Given the description of an element on the screen output the (x, y) to click on. 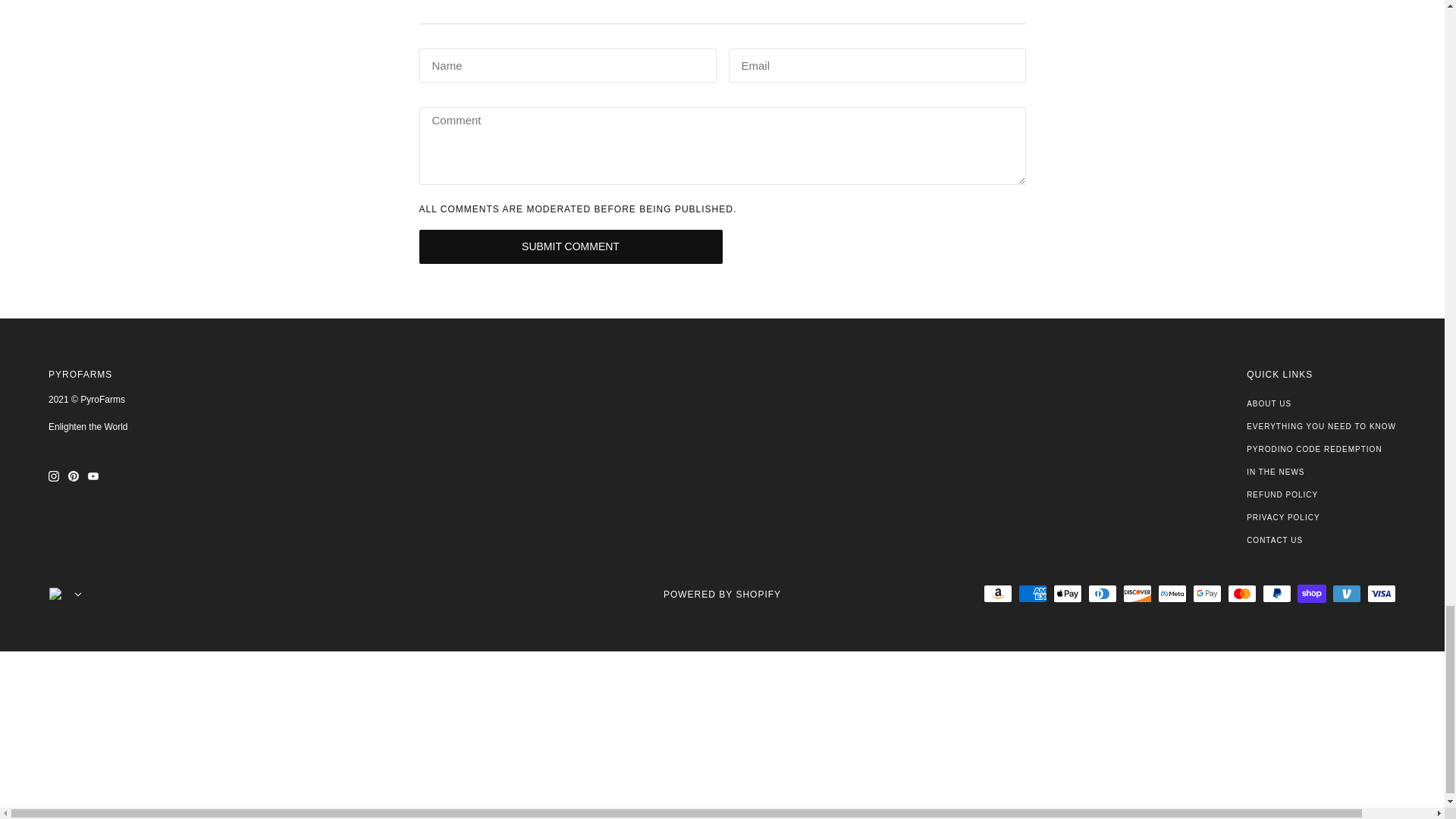
Everything You Need to Know (1321, 426)
About Us (1268, 403)
PyroDino Code Redemption (1313, 449)
Contact Us (1274, 540)
Privacy policy (1282, 517)
In The News (1275, 471)
Refund policy (1281, 494)
SUBMIT COMMENT (570, 246)
